Given the description of an element on the screen output the (x, y) to click on. 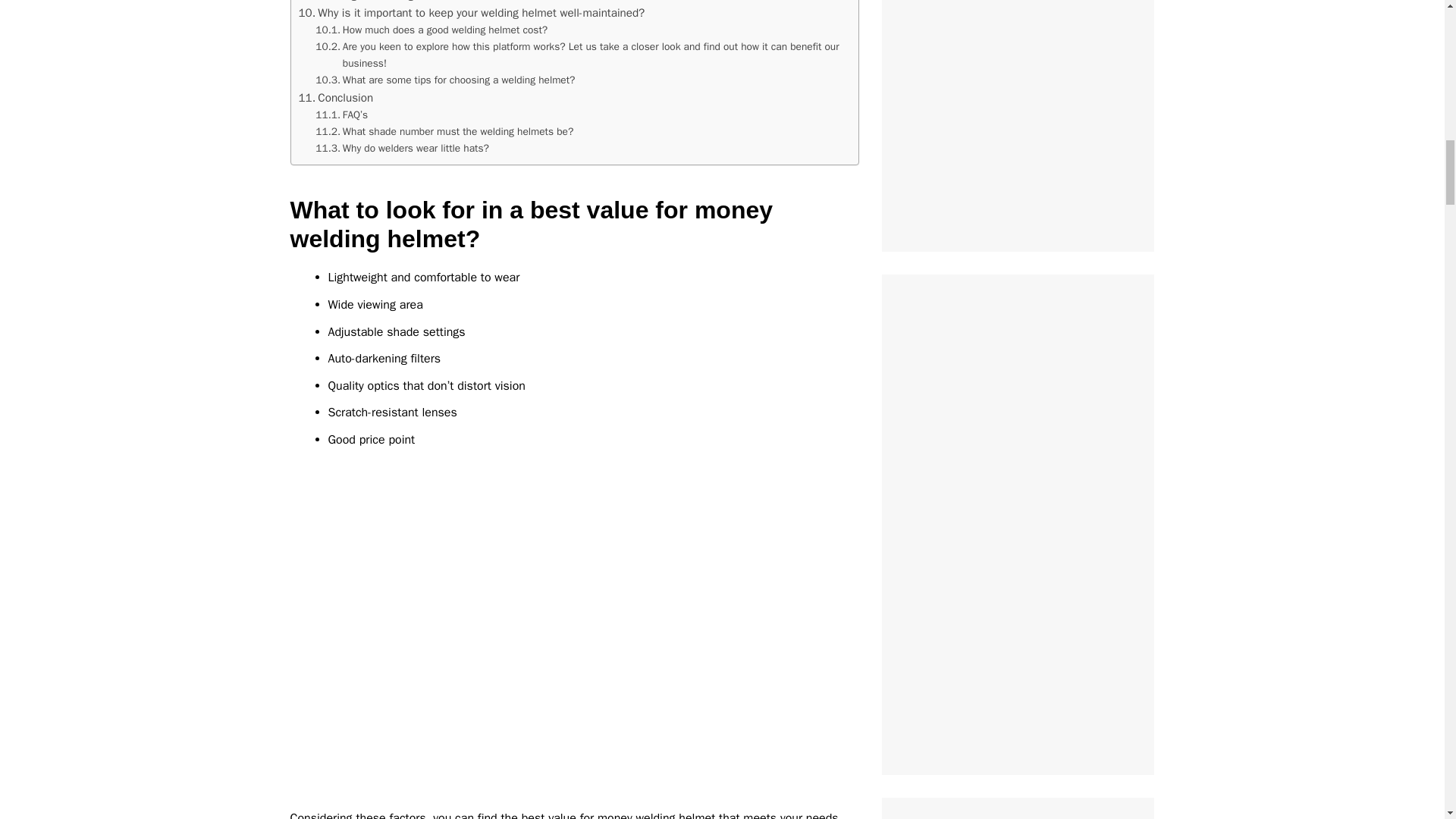
How much does a good welding helmet cost? (431, 30)
How long do welding helmets last? (392, 1)
Why do welders wear little hats? (402, 148)
What are some tips for choosing a welding helmet? (445, 80)
How long do welding helmets last? (392, 1)
What shade number must the welding helmets be? (444, 131)
Conclusion (336, 97)
